Given the description of an element on the screen output the (x, y) to click on. 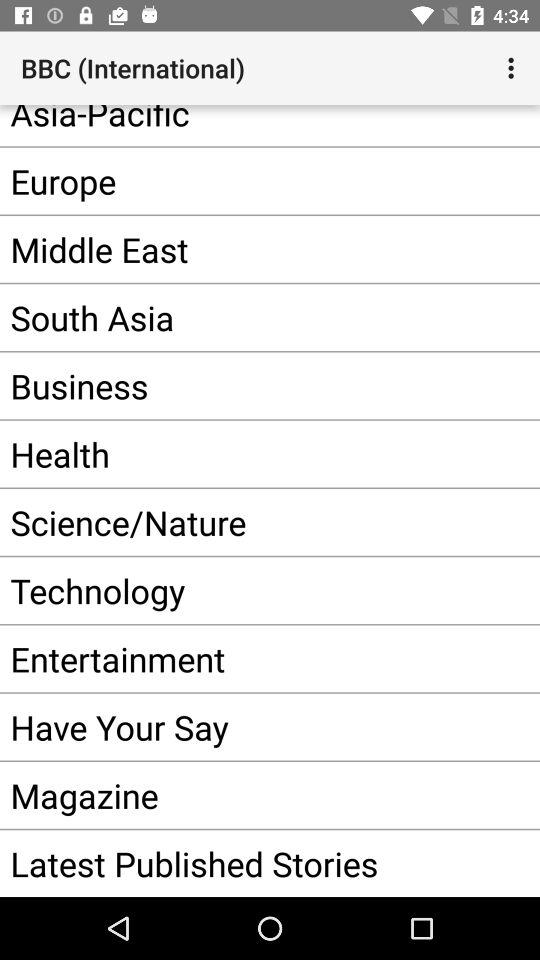
launch item below the entertainment (240, 726)
